Given the description of an element on the screen output the (x, y) to click on. 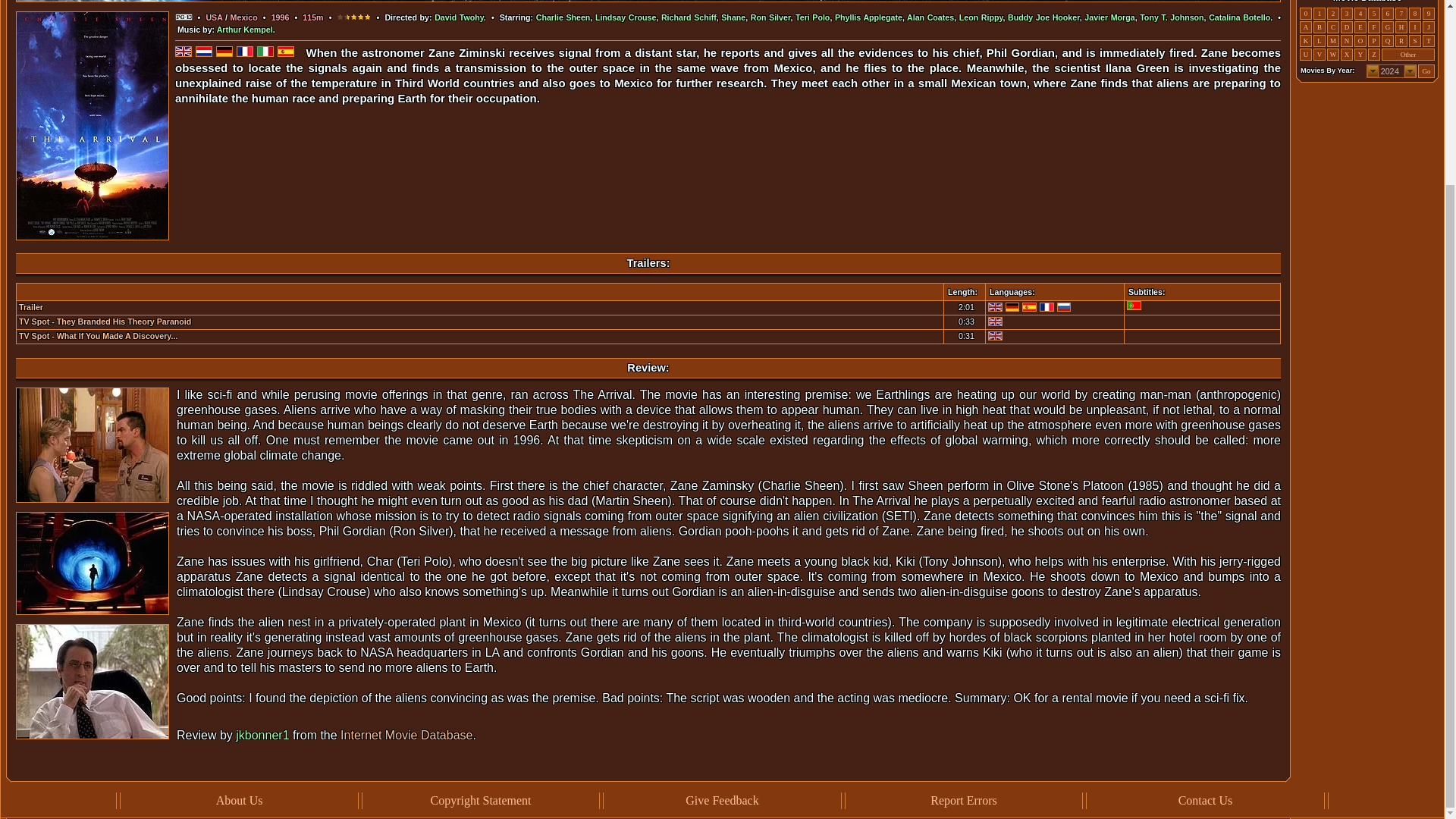
Spanish (1029, 307)
Trailer (30, 307)
Internet Movie Database (405, 735)
English (995, 307)
Russian (1064, 307)
TV Spot - They Branded His Theory Paranoid (104, 320)
English (995, 320)
Portuguese (1133, 305)
German (1013, 307)
TV Spot - What If You Made A Discovery... (97, 335)
